Given the description of an element on the screen output the (x, y) to click on. 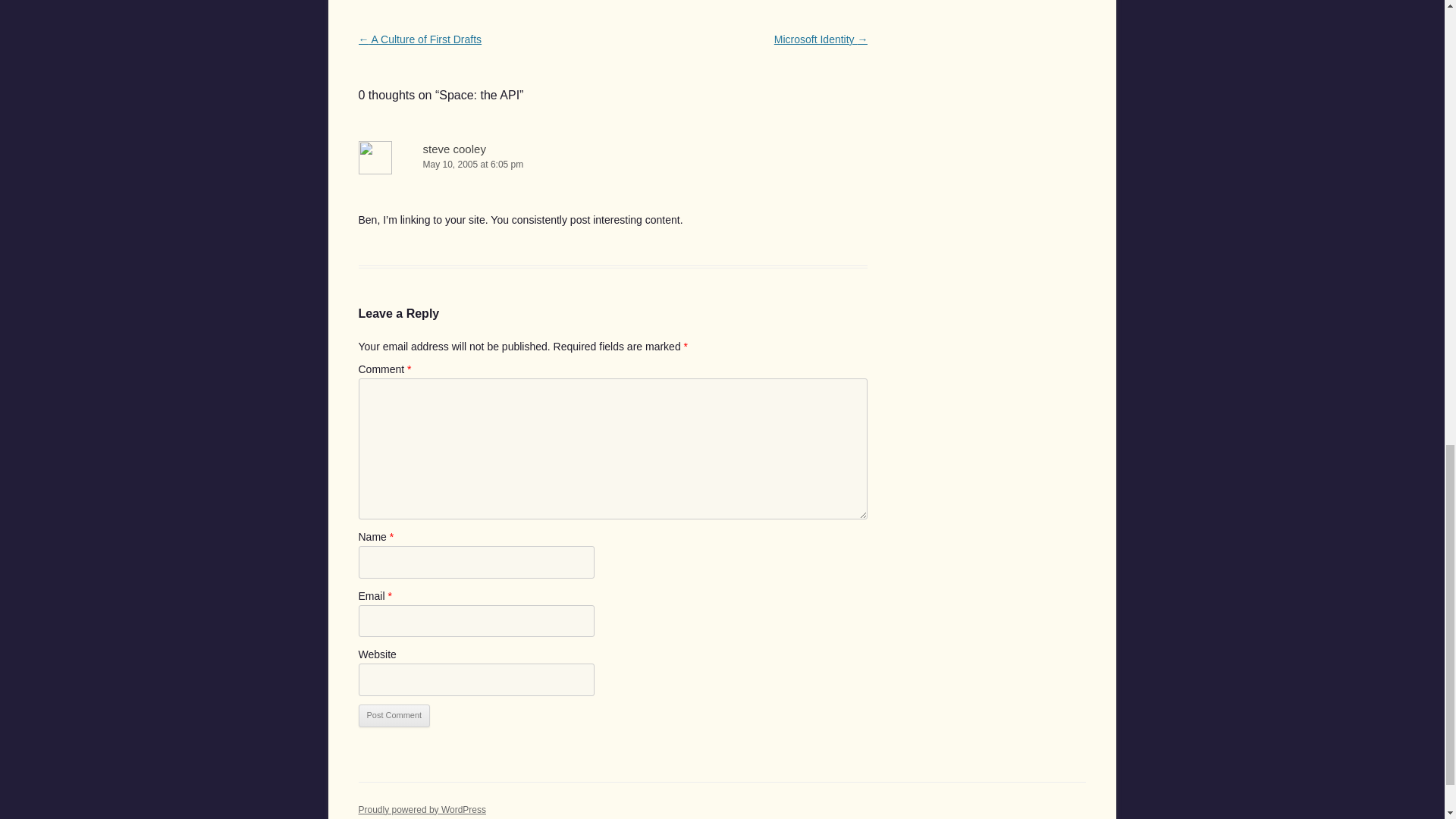
Proudly powered by WordPress (422, 809)
May 10, 2005 at 6:05 pm (612, 164)
Post Comment (393, 715)
Semantic Personal Publishing Platform (422, 809)
Post Comment (393, 715)
steve cooley (454, 148)
